Given the description of an element on the screen output the (x, y) to click on. 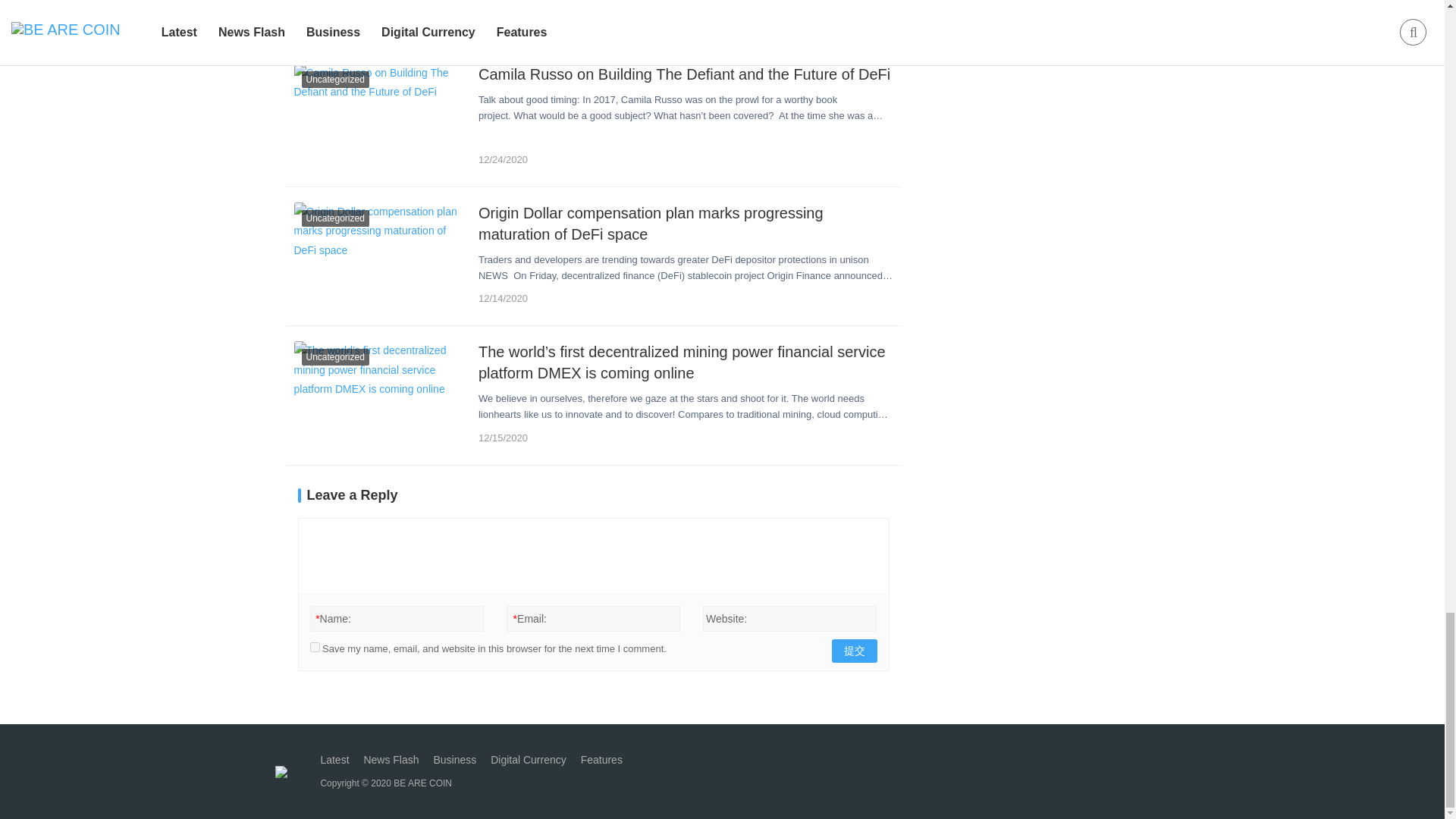
Uncategorized (326, 20)
Camila Russo on Building The Defiant and the Future of DeFi (380, 117)
yes (313, 646)
Camila Russo on Building The Defiant and the Future of DeFi (686, 74)
